Given the description of an element on the screen output the (x, y) to click on. 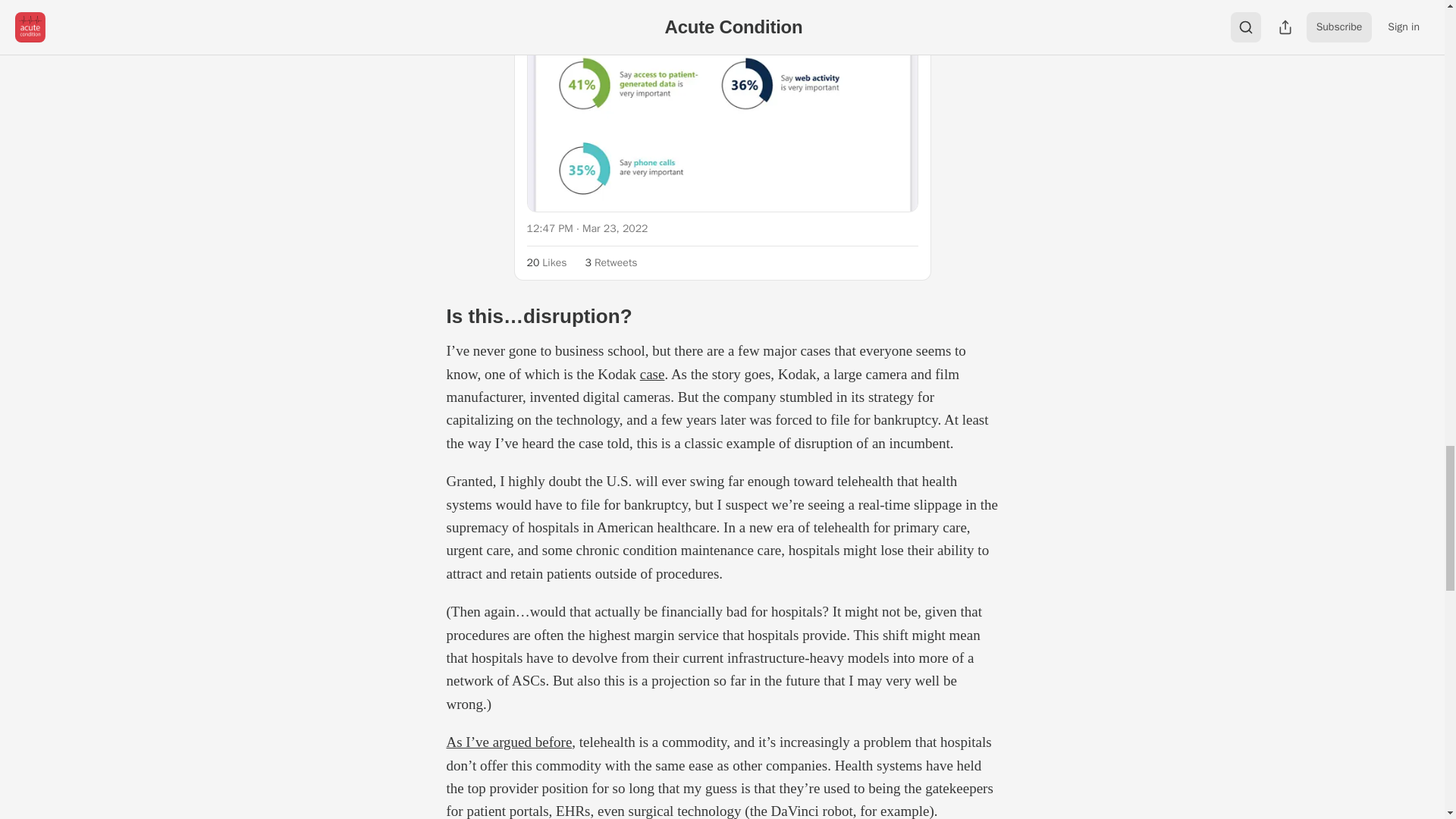
case (652, 374)
